Given the description of an element on the screen output the (x, y) to click on. 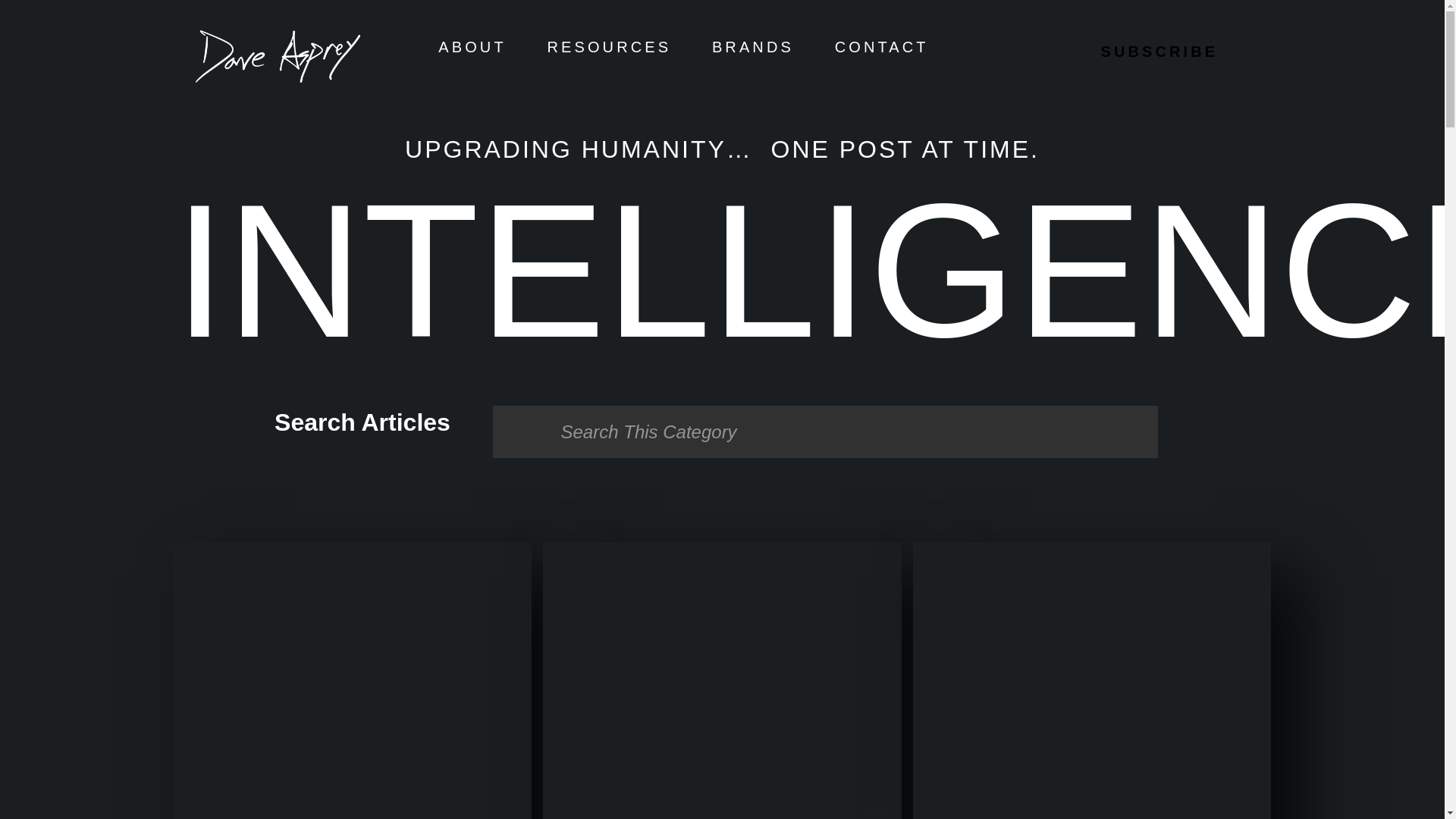
RESOURCES (609, 46)
CONTACT (881, 46)
Search (825, 431)
ABOUT (471, 46)
BRANDS (752, 46)
